Given the description of an element on the screen output the (x, y) to click on. 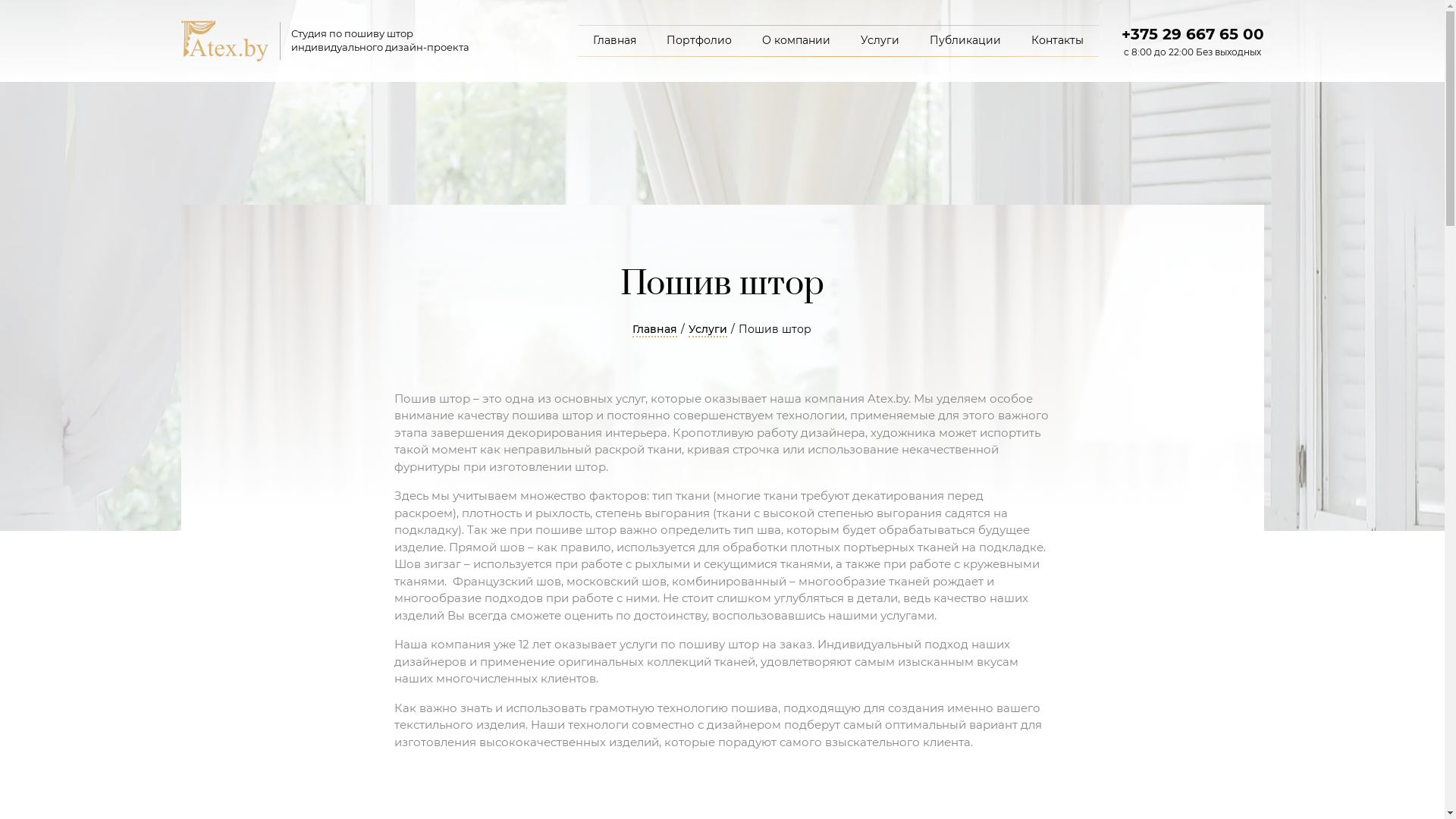
+375 29 667 65 00 Element type: text (1191, 33)
